Given the description of an element on the screen output the (x, y) to click on. 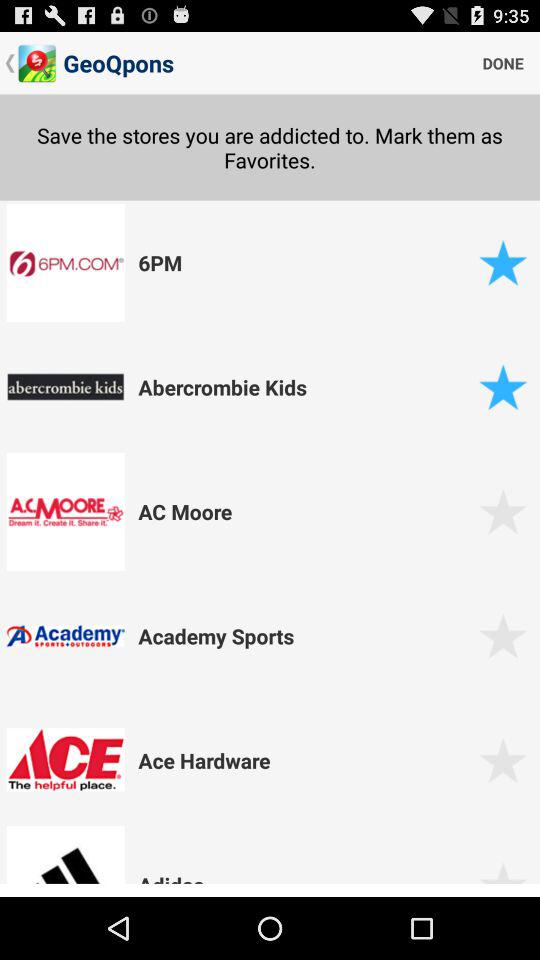
favorited (502, 386)
